Given the description of an element on the screen output the (x, y) to click on. 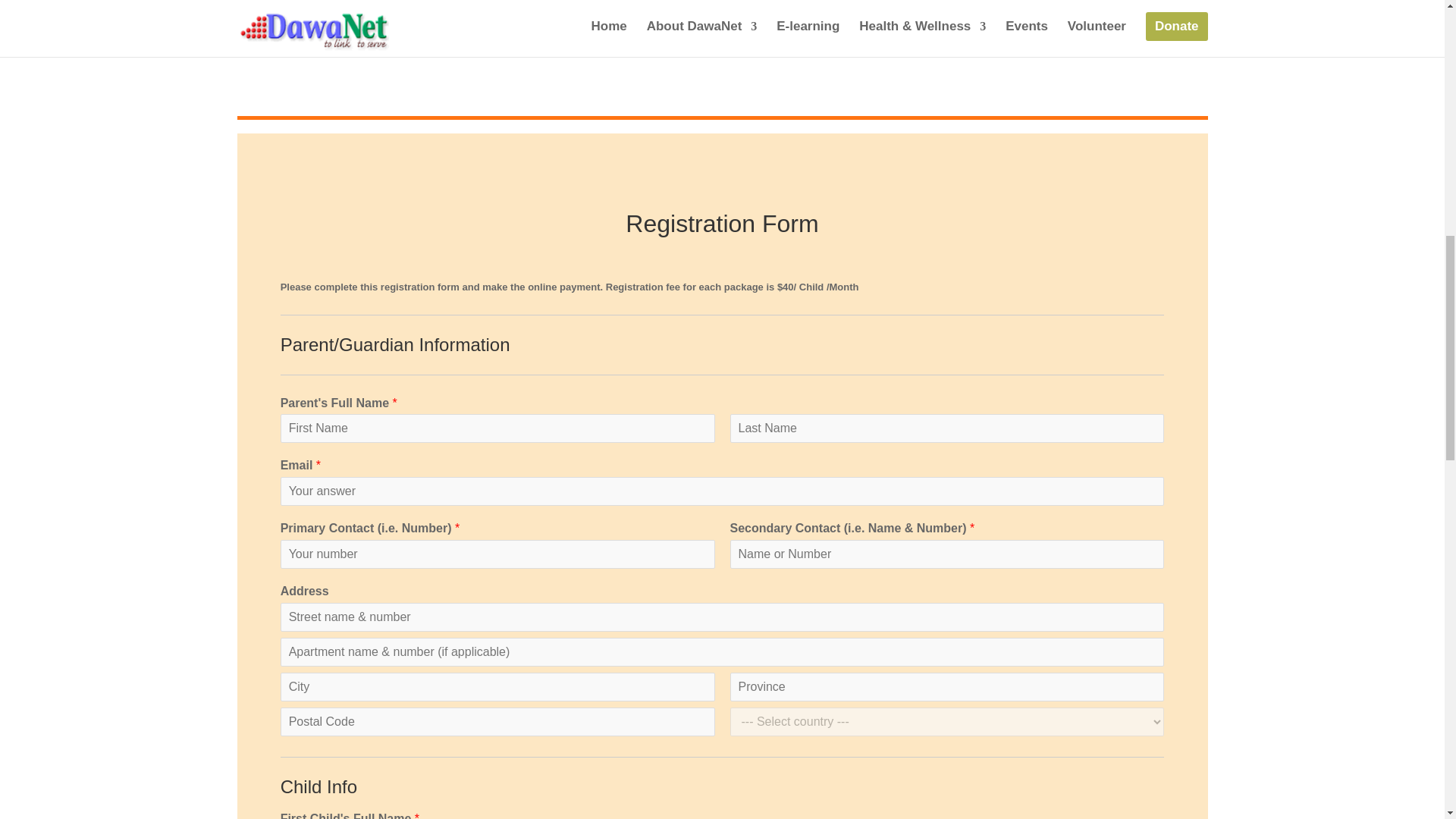
WhatsApp Image 2022-02-10 at 1.42.45 PM (465, 15)
